Given the description of an element on the screen output the (x, y) to click on. 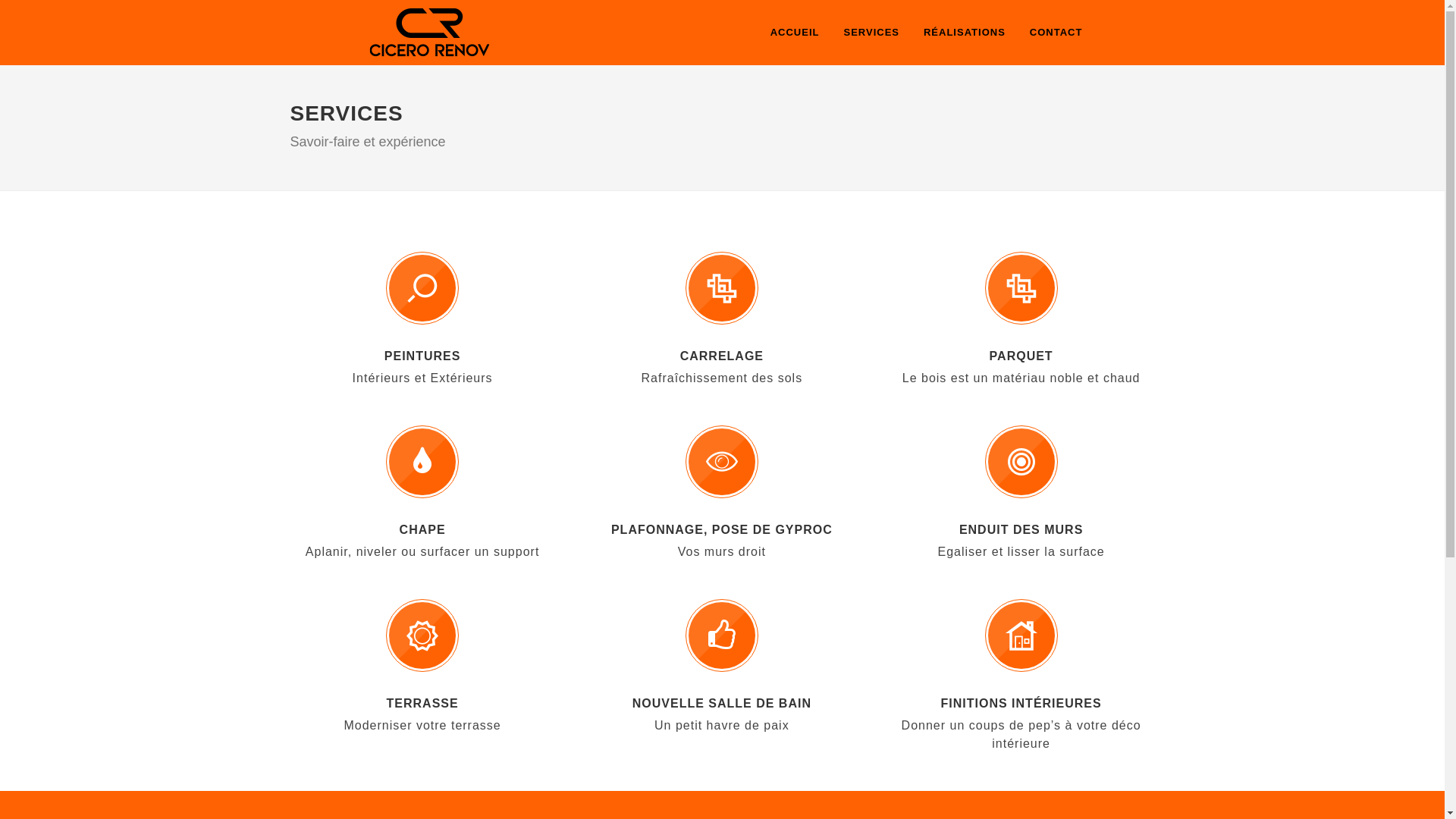
ACCUEIL Element type: text (795, 32)
CONTACT Element type: text (1056, 32)
SERVICES Element type: text (870, 32)
